Given the description of an element on the screen output the (x, y) to click on. 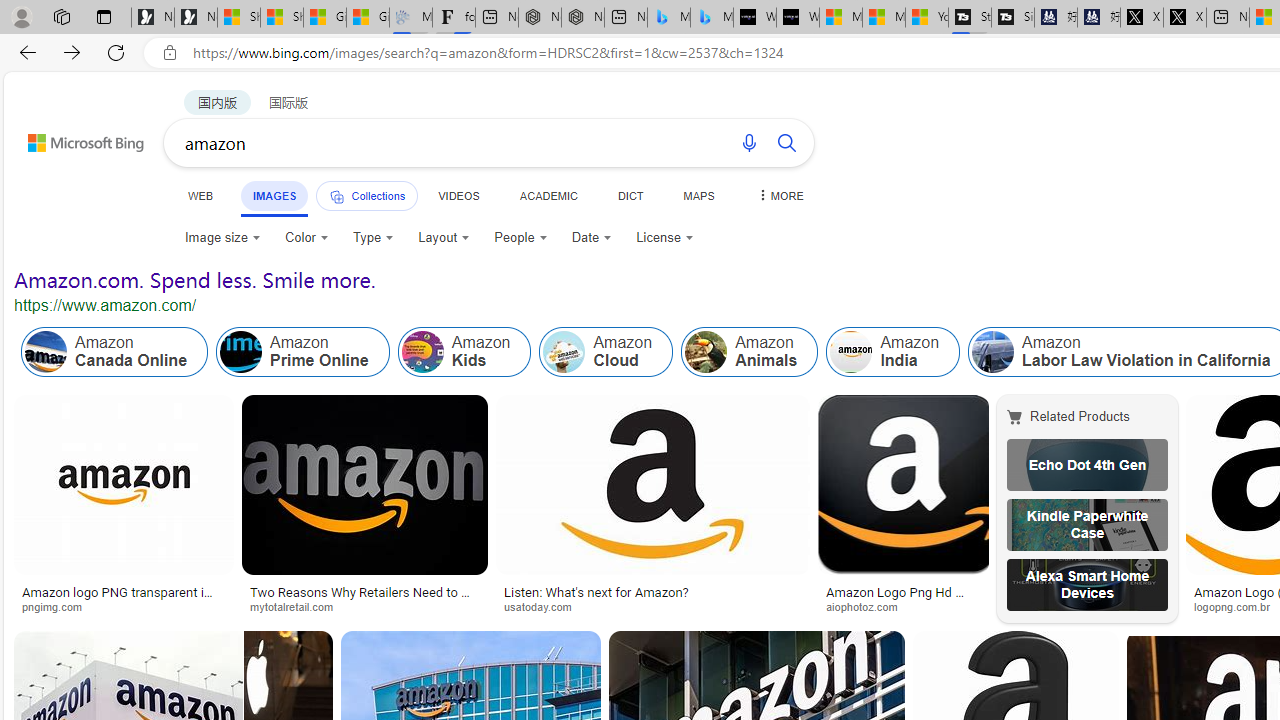
usatoday.com (545, 605)
aiophotoz.com (902, 606)
Date (591, 237)
Alexa Smart Home Devices (1087, 584)
WEB (201, 195)
Kindle Paperwhite Case (1087, 524)
Newsletter Sign Up (196, 17)
Amazon.com. Spend less. Smile more. (195, 280)
Listen: What's next for Amazon? (653, 592)
Amazon Animals (706, 351)
